Given the description of an element on the screen output the (x, y) to click on. 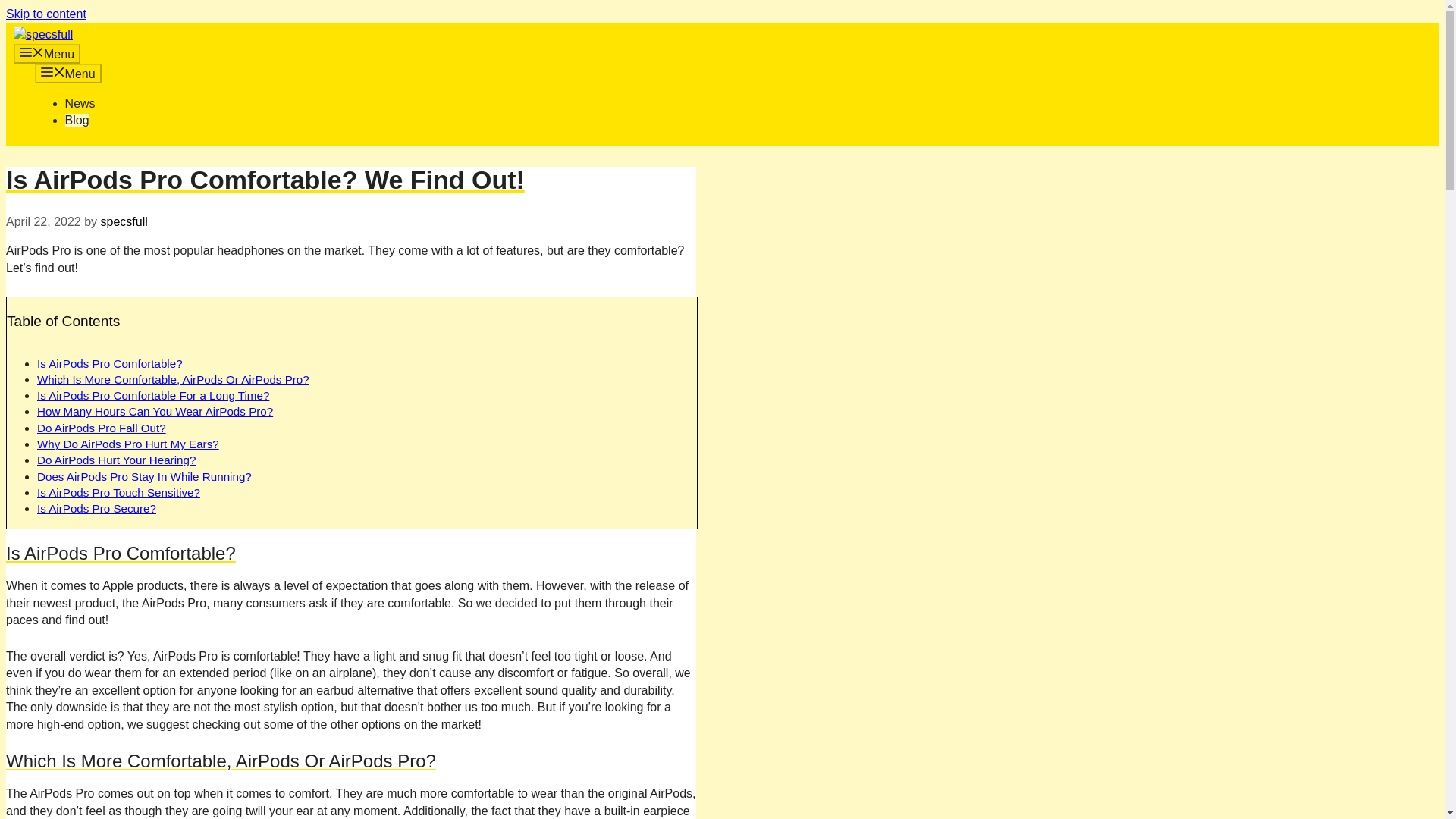
View all posts by specsfull (124, 221)
specsfull (42, 34)
Is AirPods Pro Touch Sensitive? (118, 492)
Does AirPods Pro Stay In While Running? (144, 476)
Is AirPods Pro Secure? (96, 508)
Is AirPods Pro Comfortable For a Long Time? (153, 395)
Skip to content (45, 13)
Menu (46, 53)
Is AirPods Pro Comfortable? (110, 363)
Menu (67, 73)
